Given the description of an element on the screen output the (x, y) to click on. 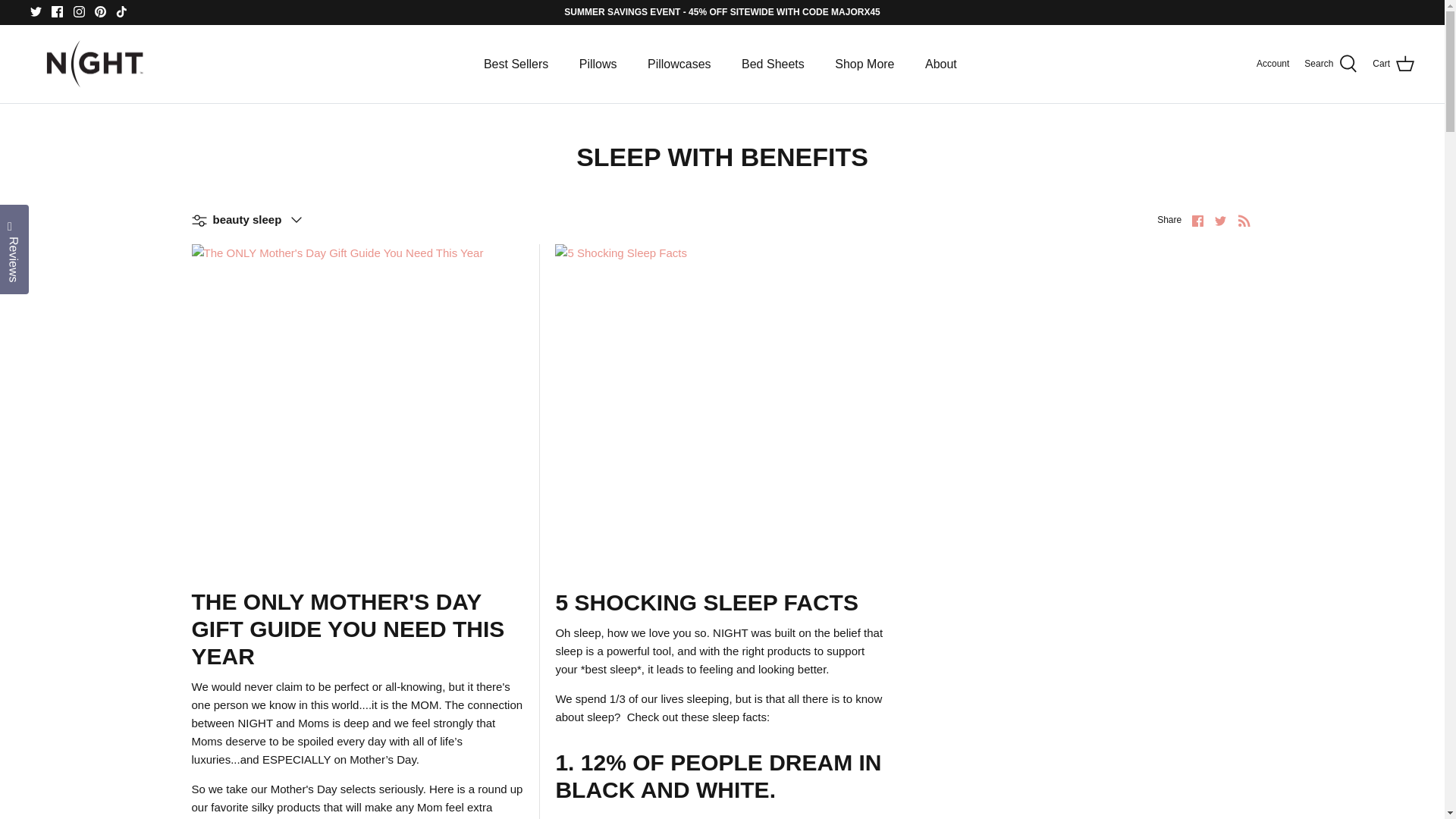
Pillowcases (679, 64)
Account (1272, 63)
Twitter (36, 11)
Pinterest (100, 11)
Pillows (598, 64)
Bed Sheets (773, 64)
Best Sellers (516, 64)
Facebook (1198, 220)
Search (1330, 64)
Cart (1393, 64)
Facebook (56, 11)
Pinterest (100, 11)
About (941, 64)
Shop More (864, 64)
RSS (1243, 220)
